Given the description of an element on the screen output the (x, y) to click on. 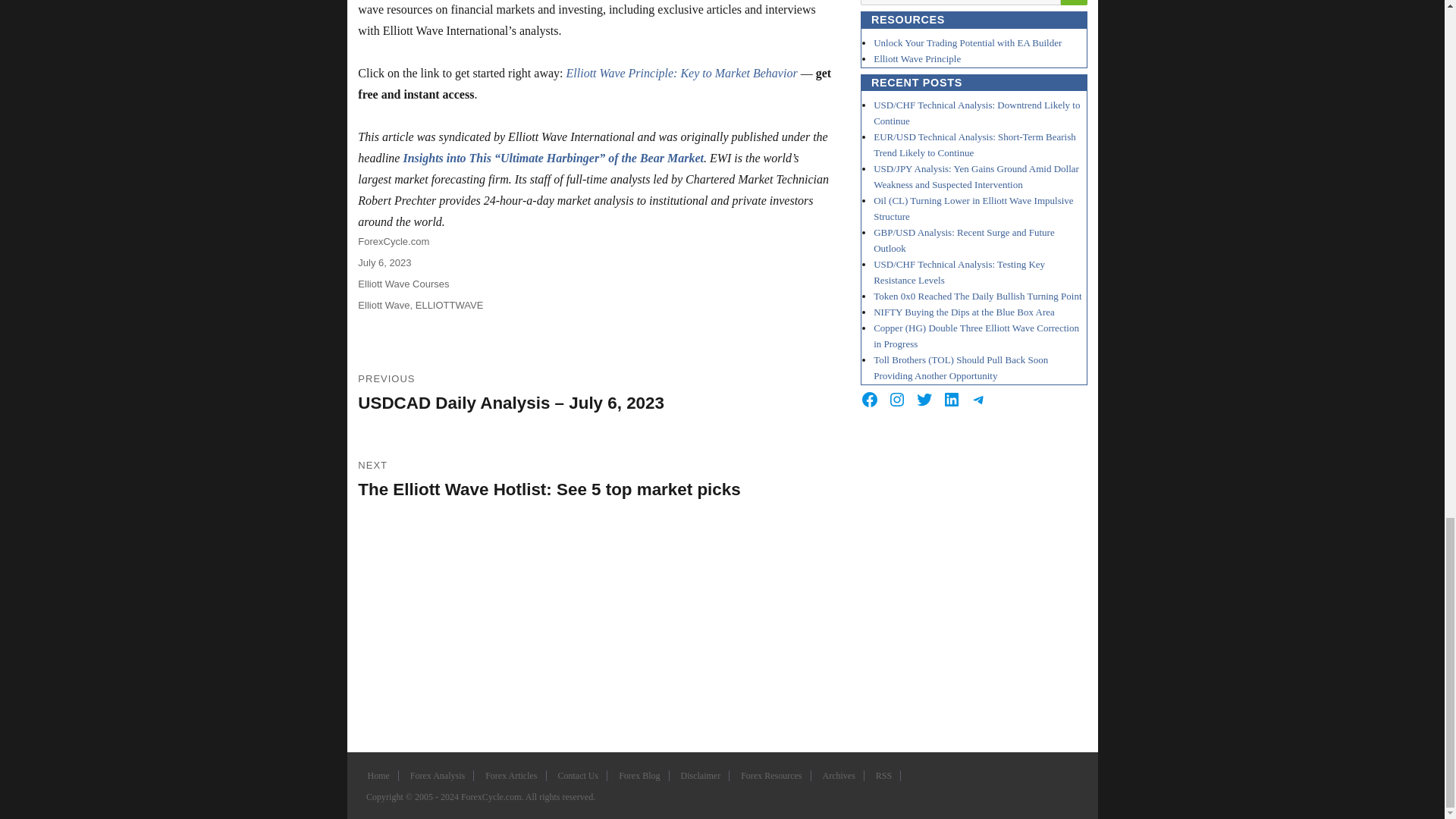
Elliott Wave Principle: Key to Market Behavior (681, 72)
